Given the description of an element on the screen output the (x, y) to click on. 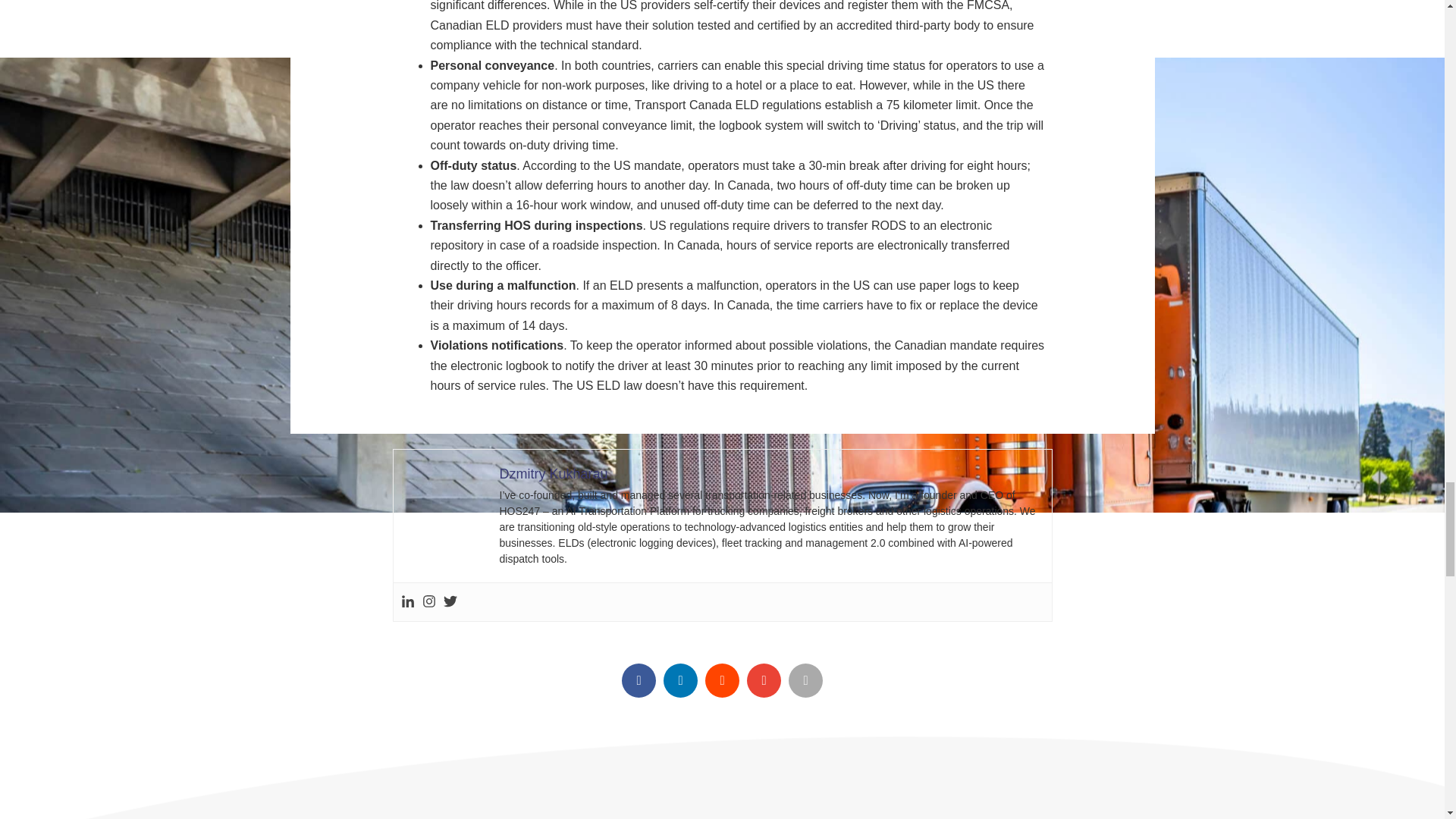
Twitter (449, 601)
Linkedin (406, 601)
Instagram (428, 601)
Dzmitry Kukharau (553, 473)
